Given the description of an element on the screen output the (x, y) to click on. 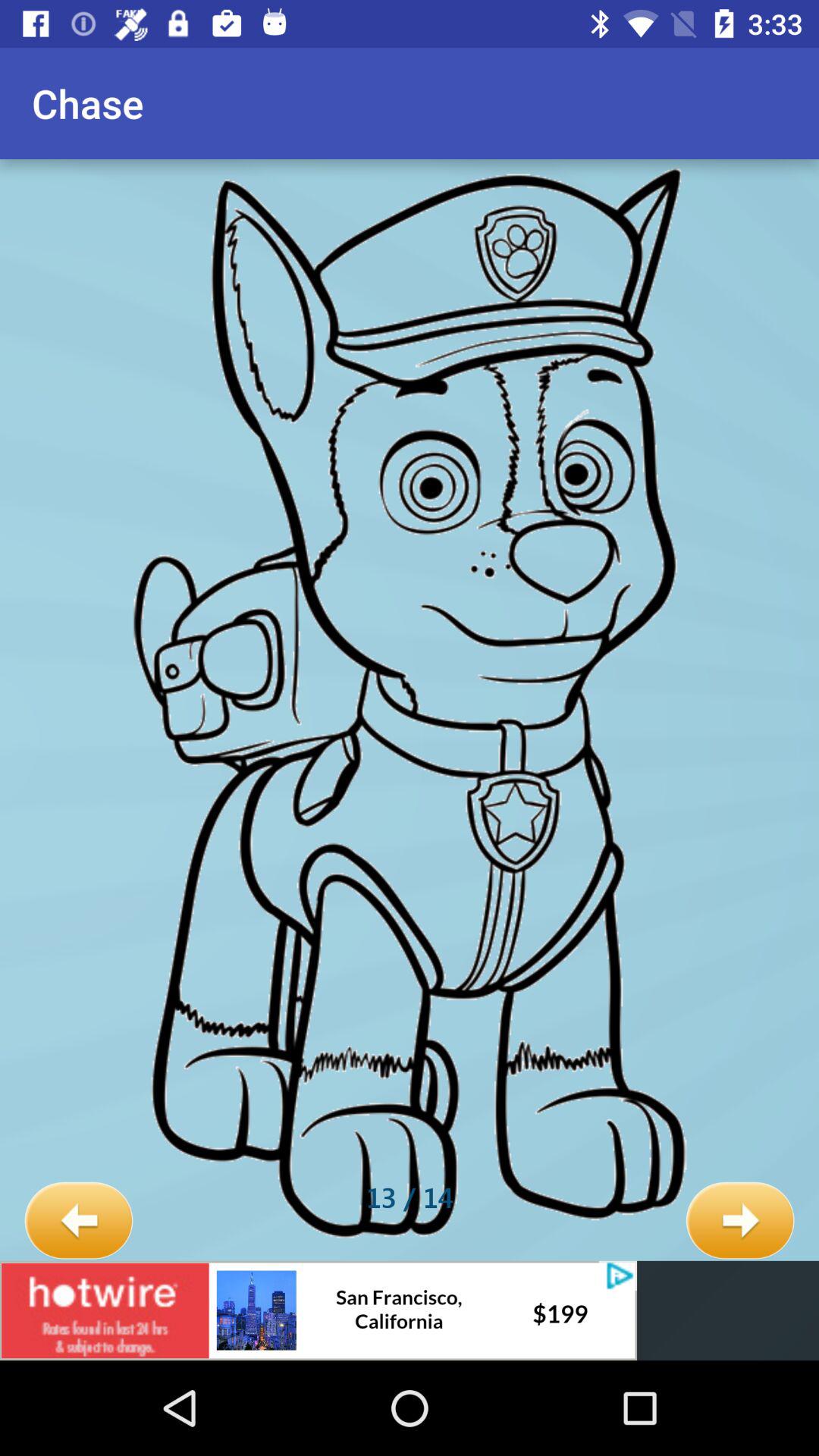
launch the icon at the bottom right corner (740, 1220)
